Given the description of an element on the screen output the (x, y) to click on. 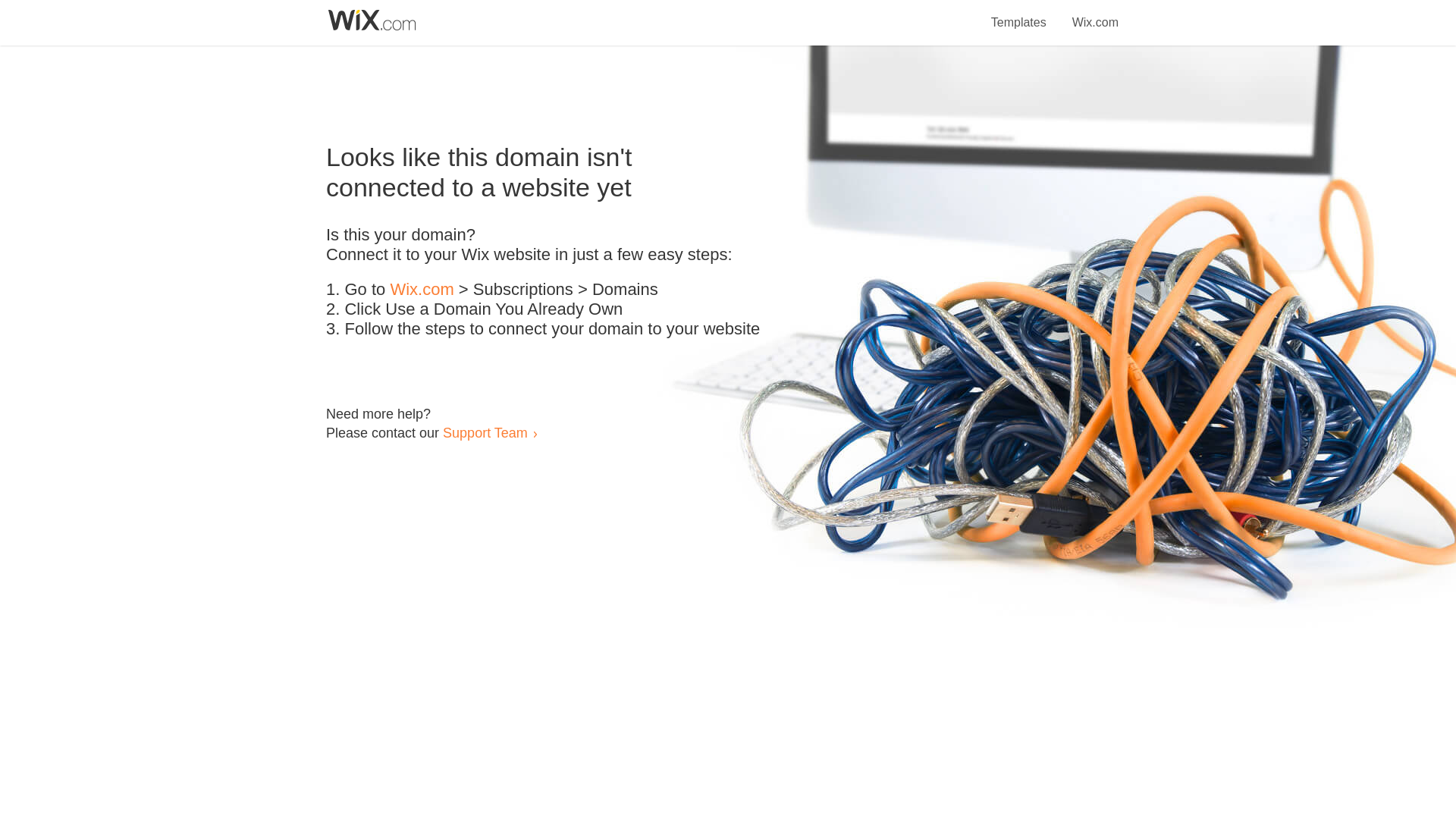
Wix.com (421, 289)
Templates (1018, 14)
Support Team (484, 432)
Wix.com (1095, 14)
